Given the description of an element on the screen output the (x, y) to click on. 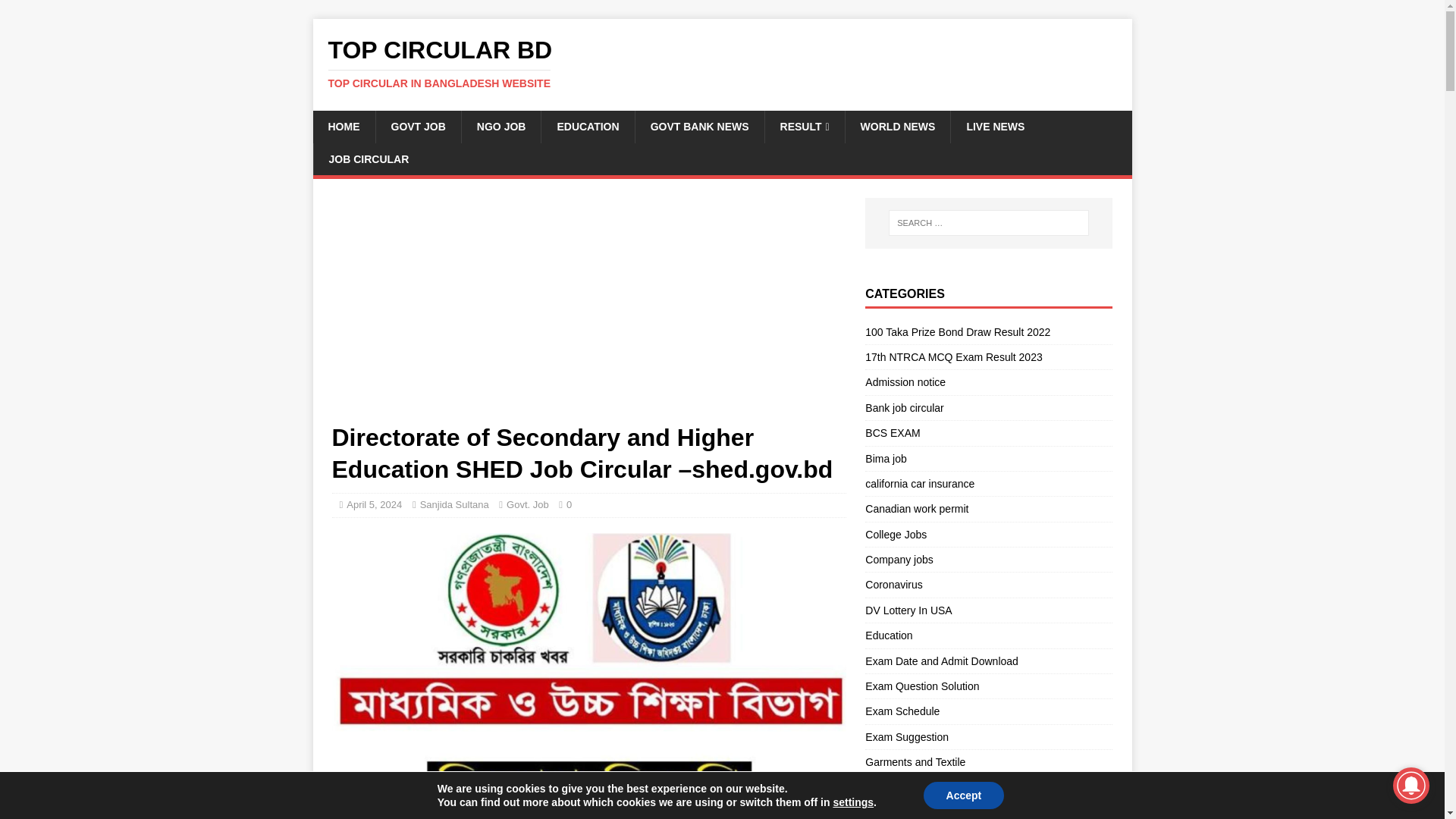
NGO JOB (501, 126)
WORLD NEWS (897, 126)
HOME (343, 126)
GOVT JOB (417, 126)
Sanjida Sultana (454, 504)
Advertisement (588, 309)
RESULT (804, 126)
Top Circular BD (721, 63)
